Given the description of an element on the screen output the (x, y) to click on. 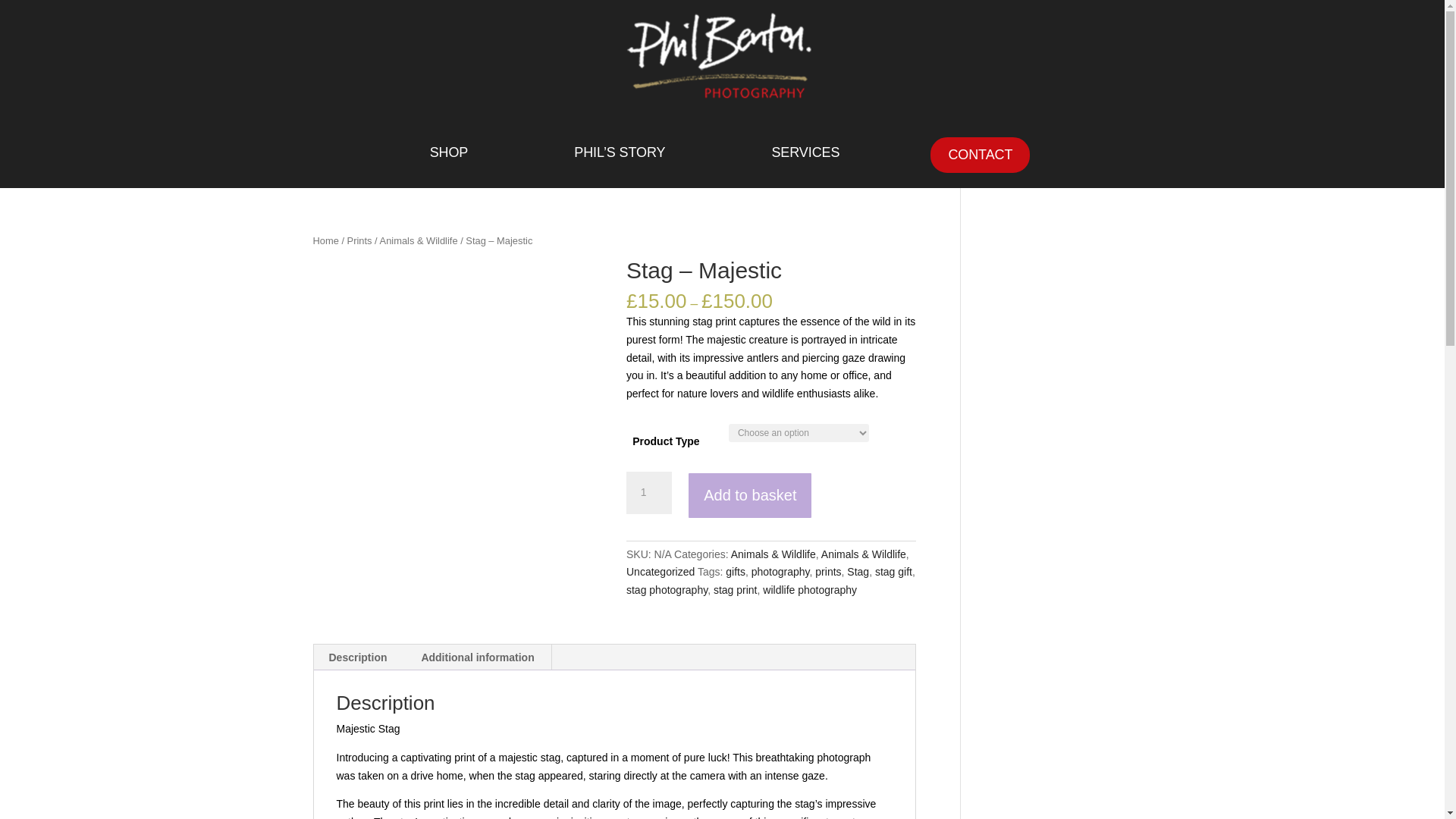
SERVICES (804, 152)
1 (648, 492)
SHOP (448, 152)
CONTACT (979, 154)
